Given the description of an element on the screen output the (x, y) to click on. 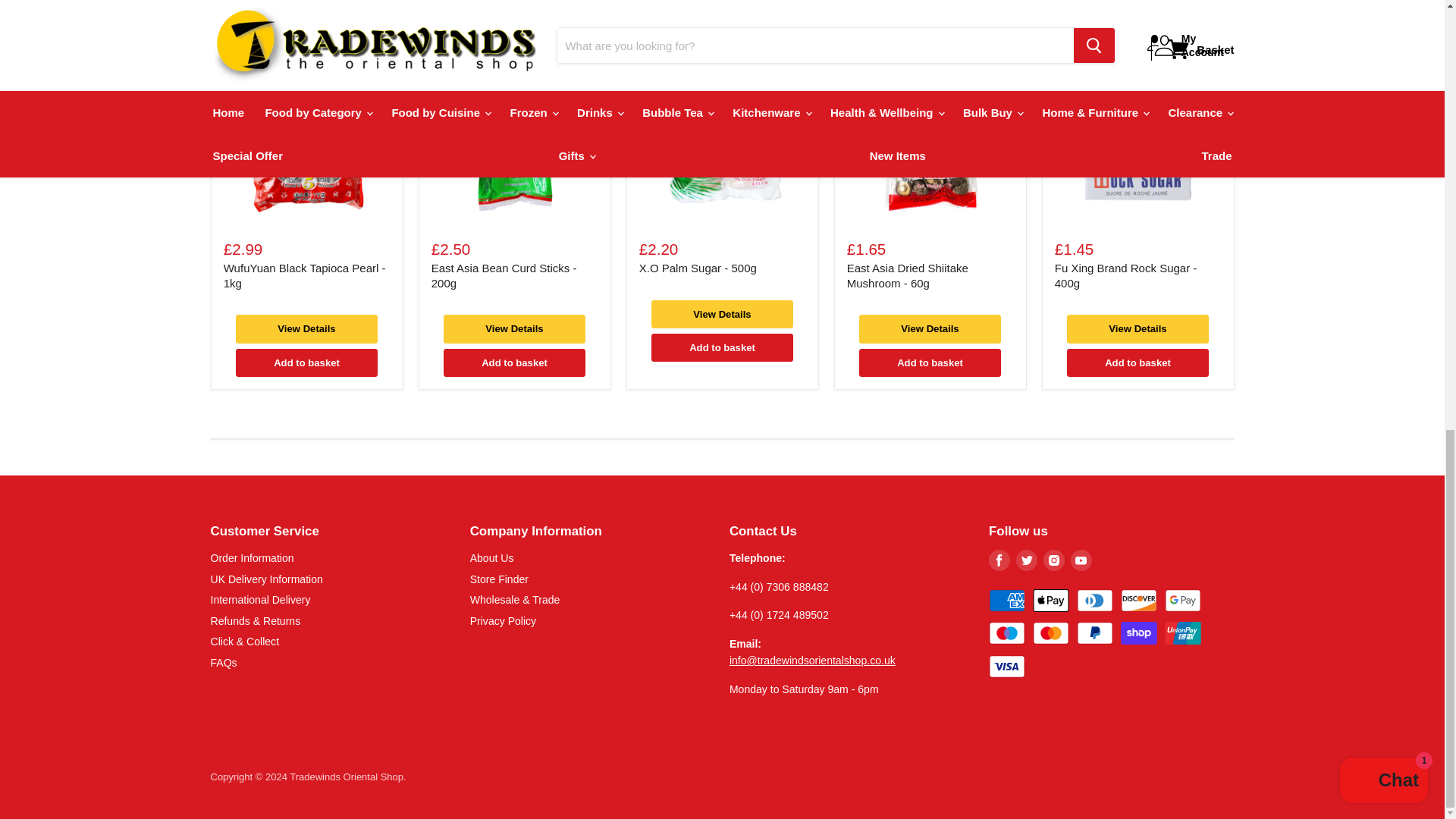
Twitter (1026, 559)
Facebook (999, 559)
Instagram (1053, 559)
Youtube (1081, 559)
